Given the description of an element on the screen output the (x, y) to click on. 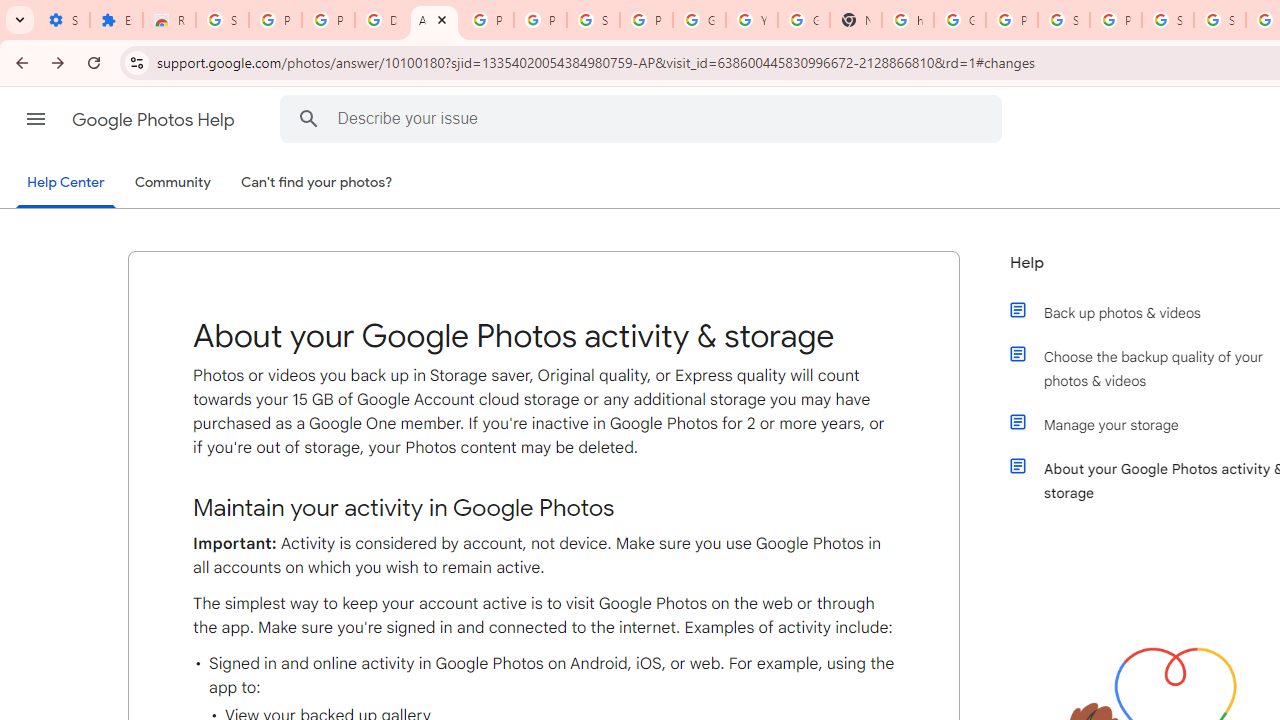
Search Help Center (309, 118)
Sign in - Google Accounts (1219, 20)
Reviews: Helix Fruit Jump Arcade Game (169, 20)
